Given the description of an element on the screen output the (x, y) to click on. 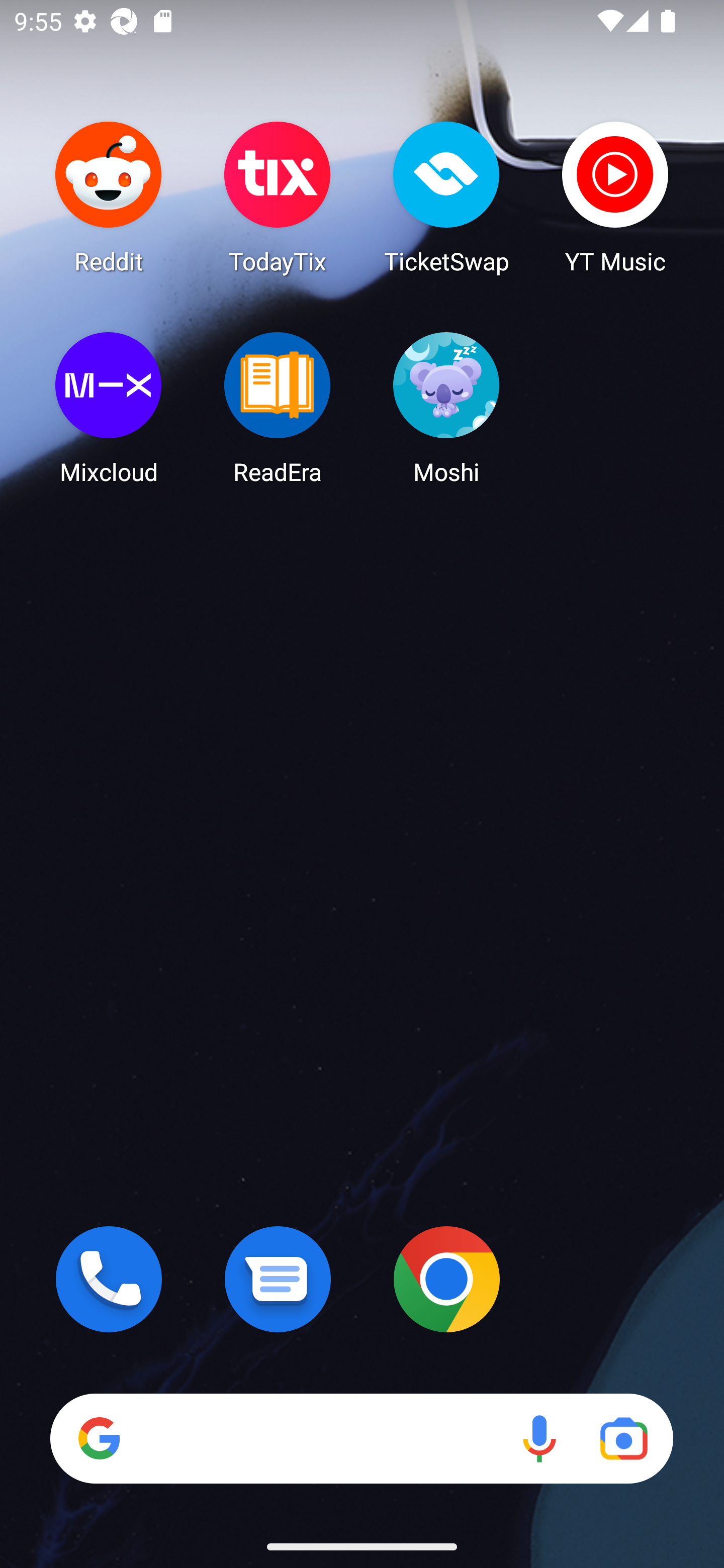
Reddit (108, 196)
TodayTix (277, 196)
TicketSwap (445, 196)
YT Music (615, 196)
Mixcloud (108, 407)
ReadEra (277, 407)
Moshi (445, 407)
Phone (108, 1279)
Messages (277, 1279)
Chrome (446, 1279)
Voice search (539, 1438)
Google Lens (623, 1438)
